Given the description of an element on the screen output the (x, y) to click on. 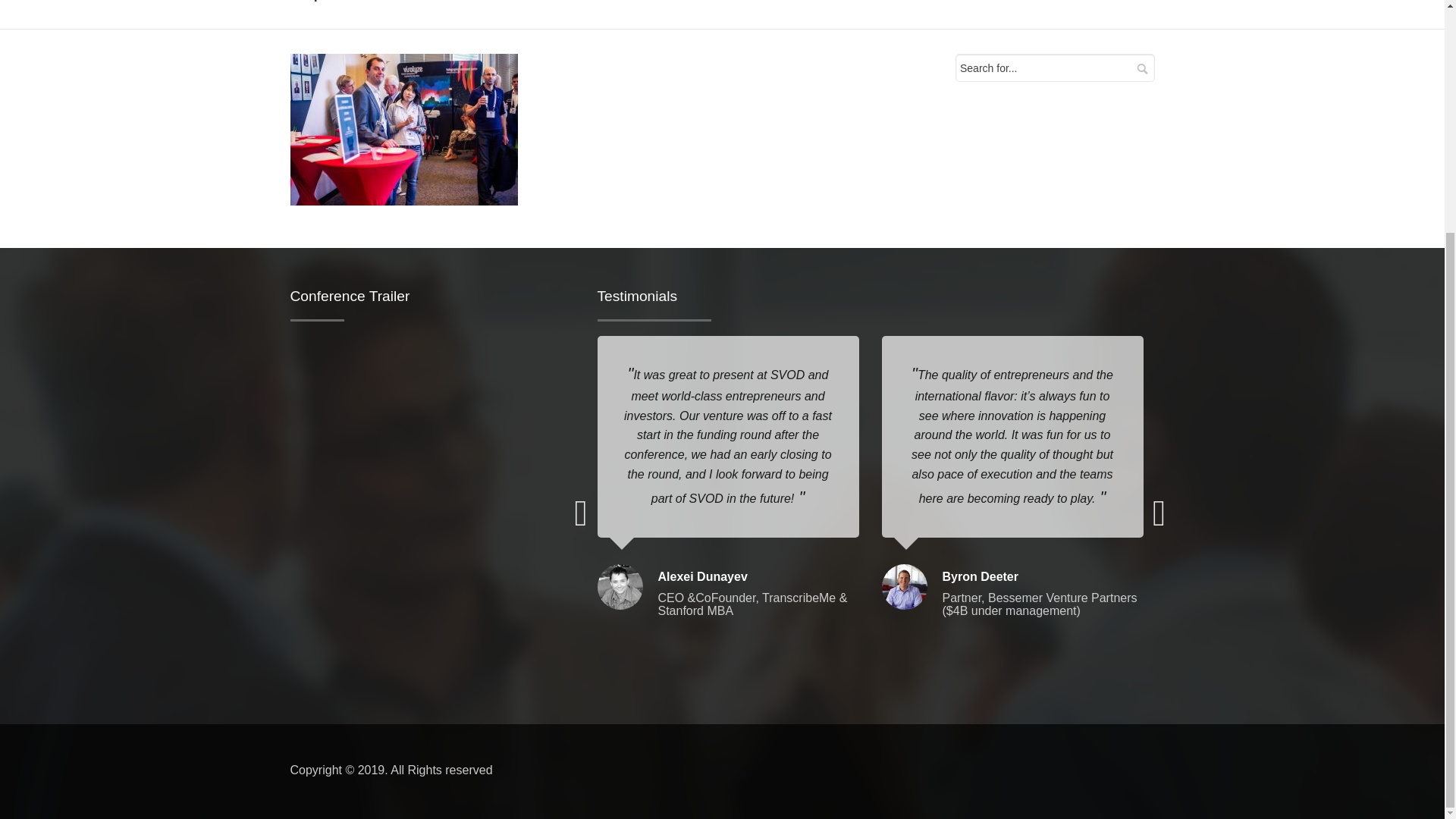
Search for... (1054, 67)
